Given the description of an element on the screen output the (x, y) to click on. 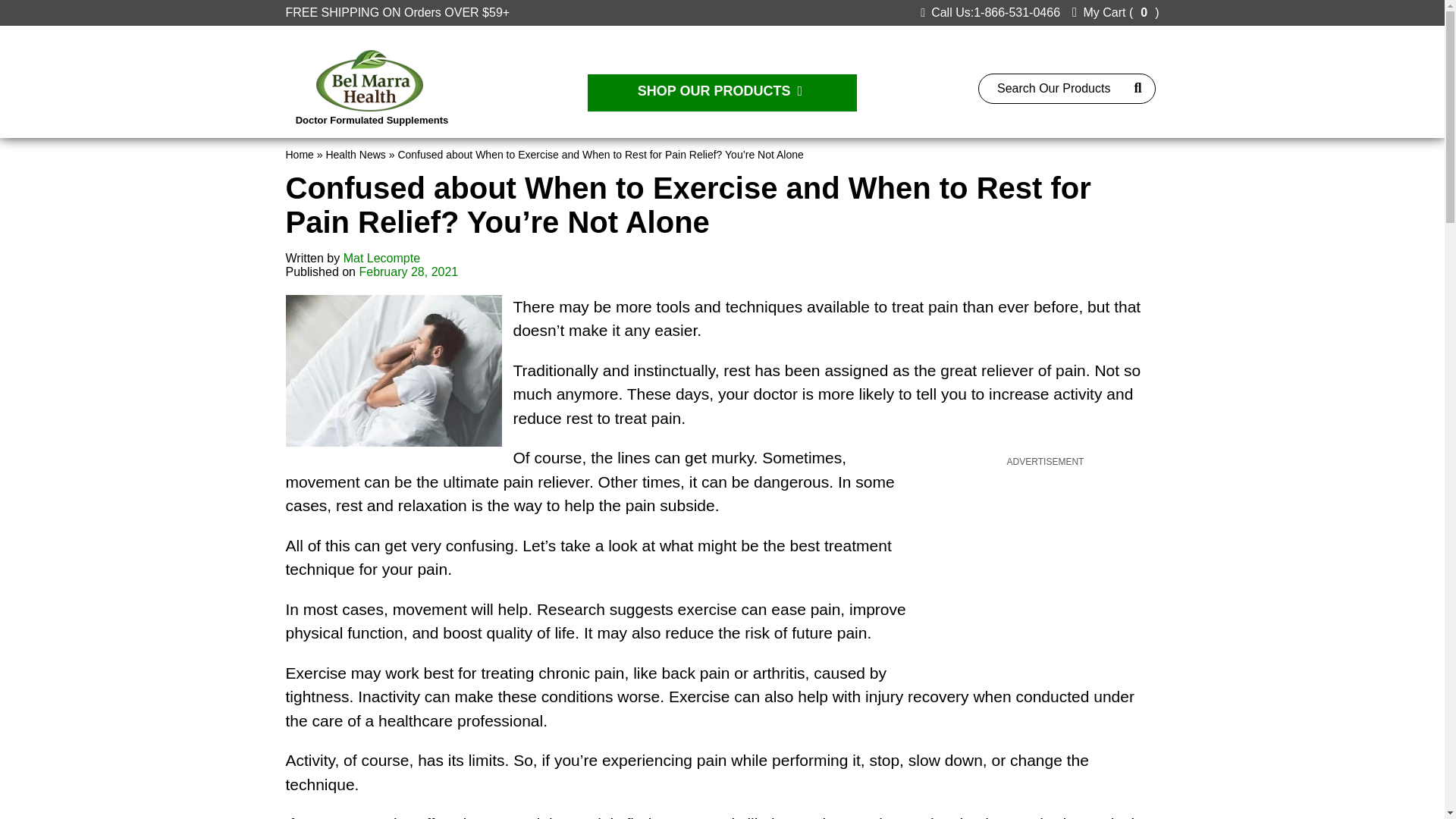
Skip to the content (50, 6)
Call Us:1-866-531-0466 (989, 11)
Posts by Mat Lecompte (381, 257)
SHOP OUR PRODUCTS (721, 92)
